Given the description of an element on the screen output the (x, y) to click on. 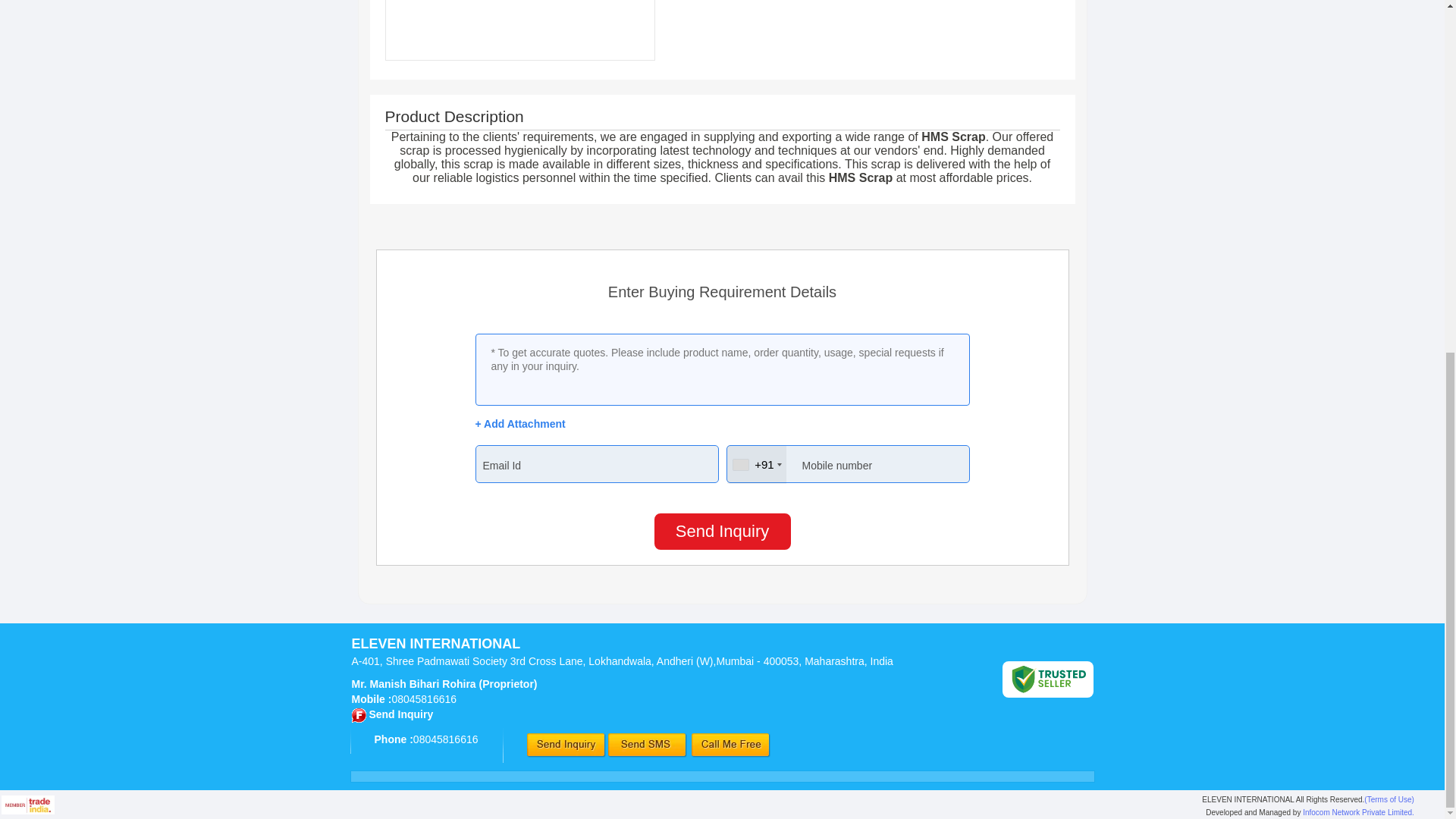
Send Inquiry (721, 531)
Send Inquiry (565, 745)
Call Me Free (730, 745)
Send SMS (647, 745)
Accepts only Export Inquiries (359, 715)
